Given the description of an element on the screen output the (x, y) to click on. 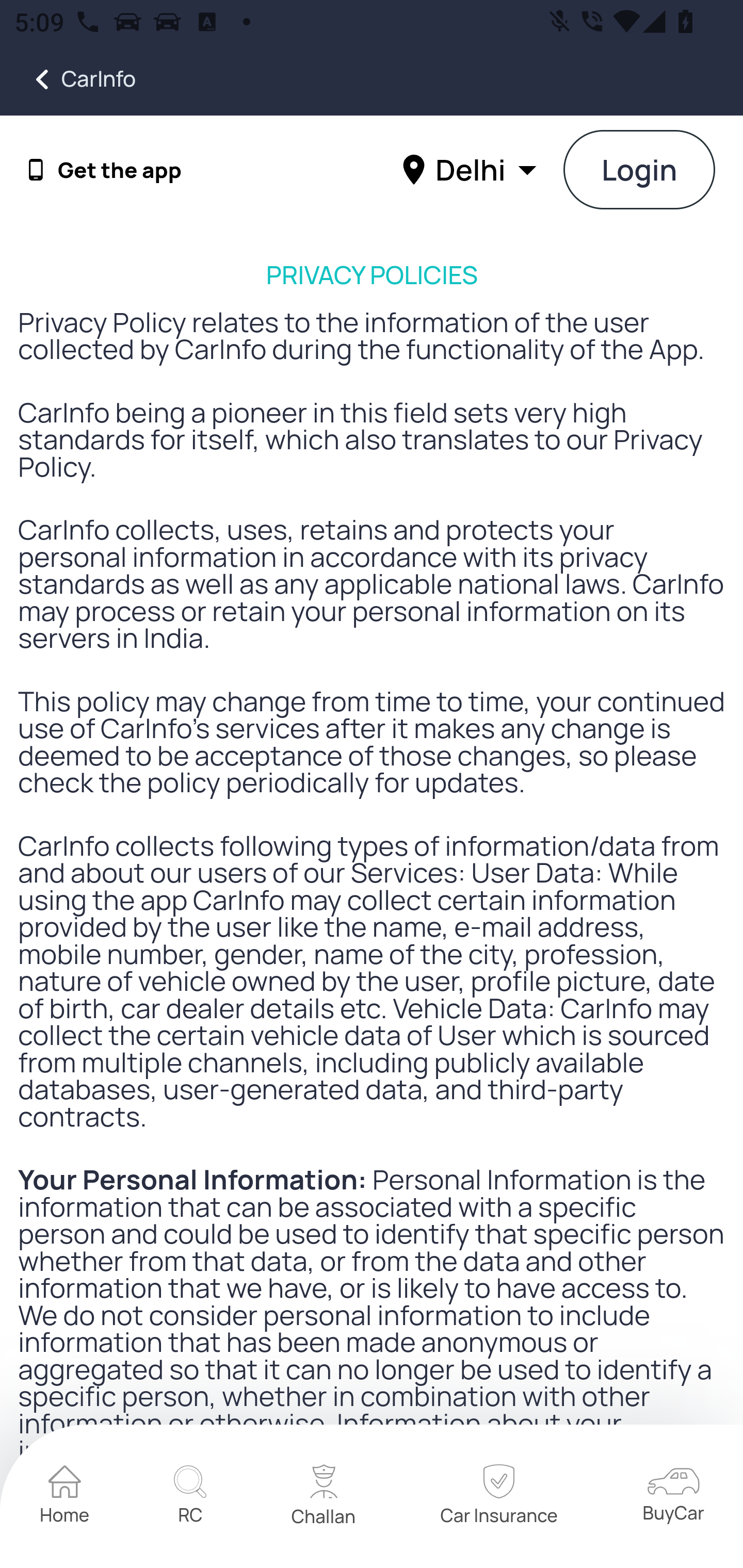
CarInfo (67, 79)
Login (639, 170)
Delhi (471, 169)
Get the app (119, 170)
home Challan home Challan (323, 1496)
home Home home Home (64, 1496)
home RC home RC (190, 1496)
home Car Insurance home Car Insurance (497, 1497)
home BuyCar home BuyCar (672, 1496)
